Given the description of an element on the screen output the (x, y) to click on. 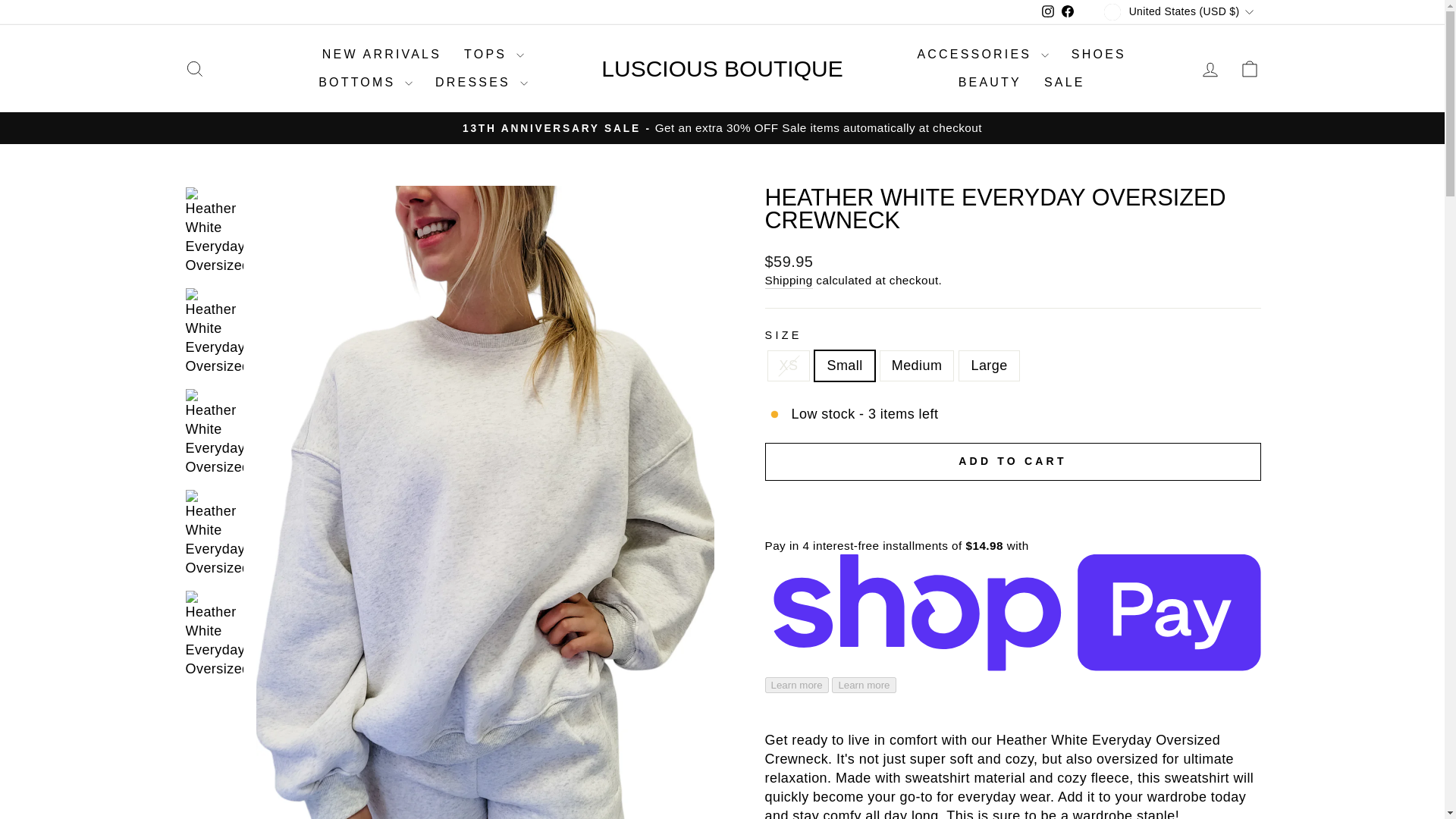
ACCOUNT (1210, 69)
Large (194, 68)
XS (1048, 10)
ICON-SEARCH (1249, 68)
